Given the description of an element on the screen output the (x, y) to click on. 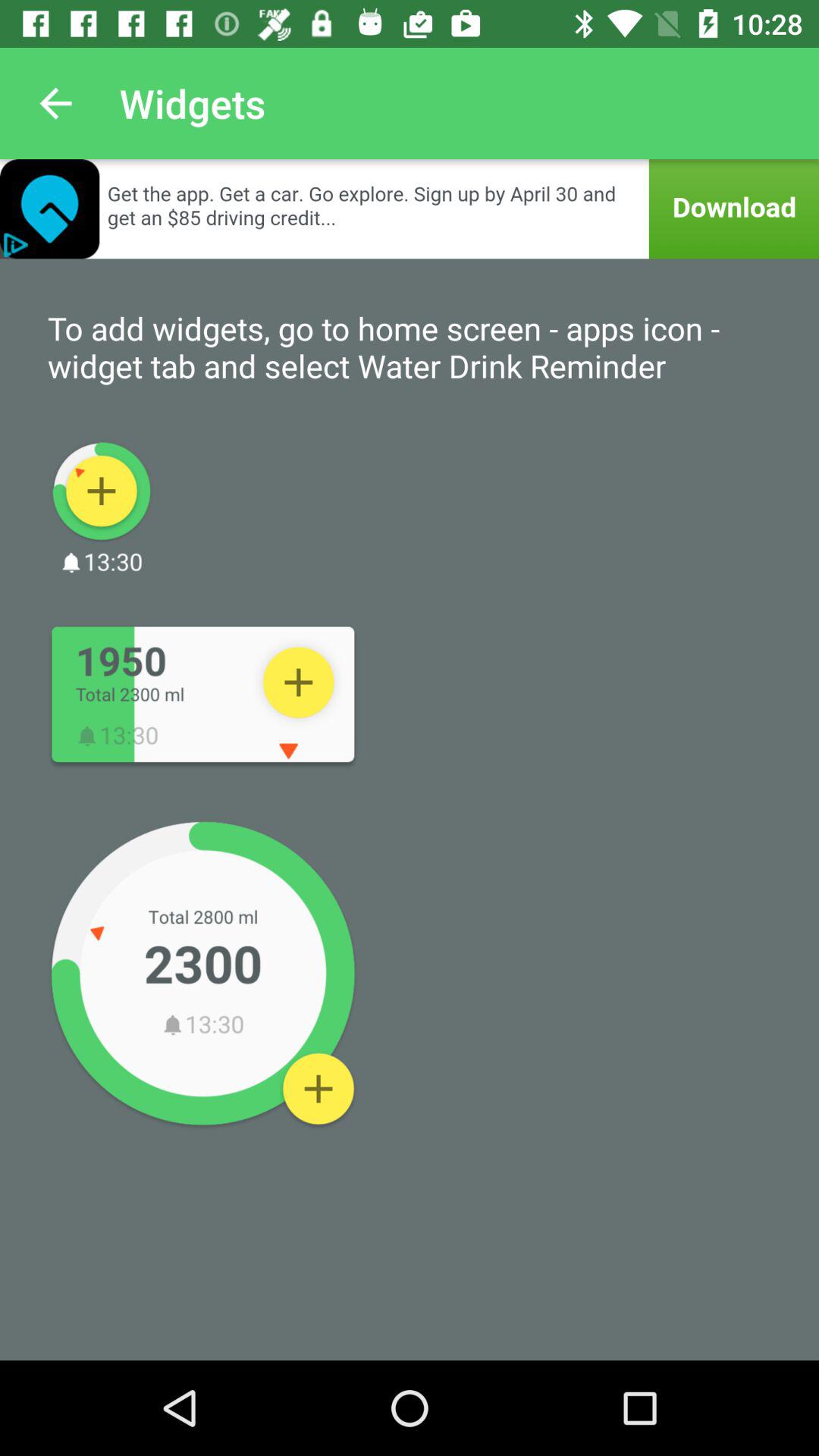
open advertisement (409, 208)
